Given the description of an element on the screen output the (x, y) to click on. 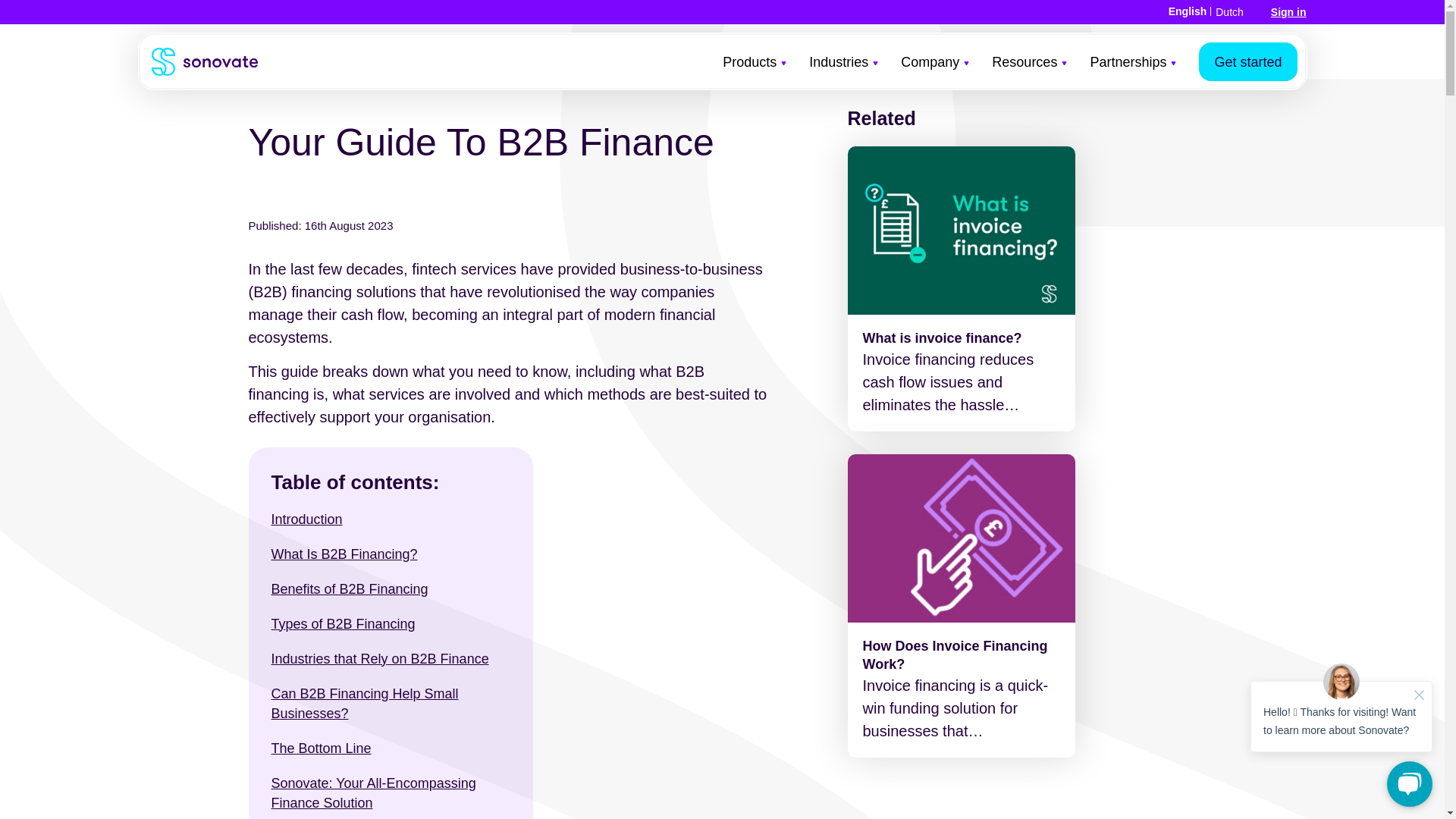
Sign in (1288, 11)
Grow 3 times faster with Sonovate (961, 538)
Dutch (1229, 12)
English (1188, 10)
English (1188, 10)
Products (754, 76)
Dutch (1229, 12)
